Given the description of an element on the screen output the (x, y) to click on. 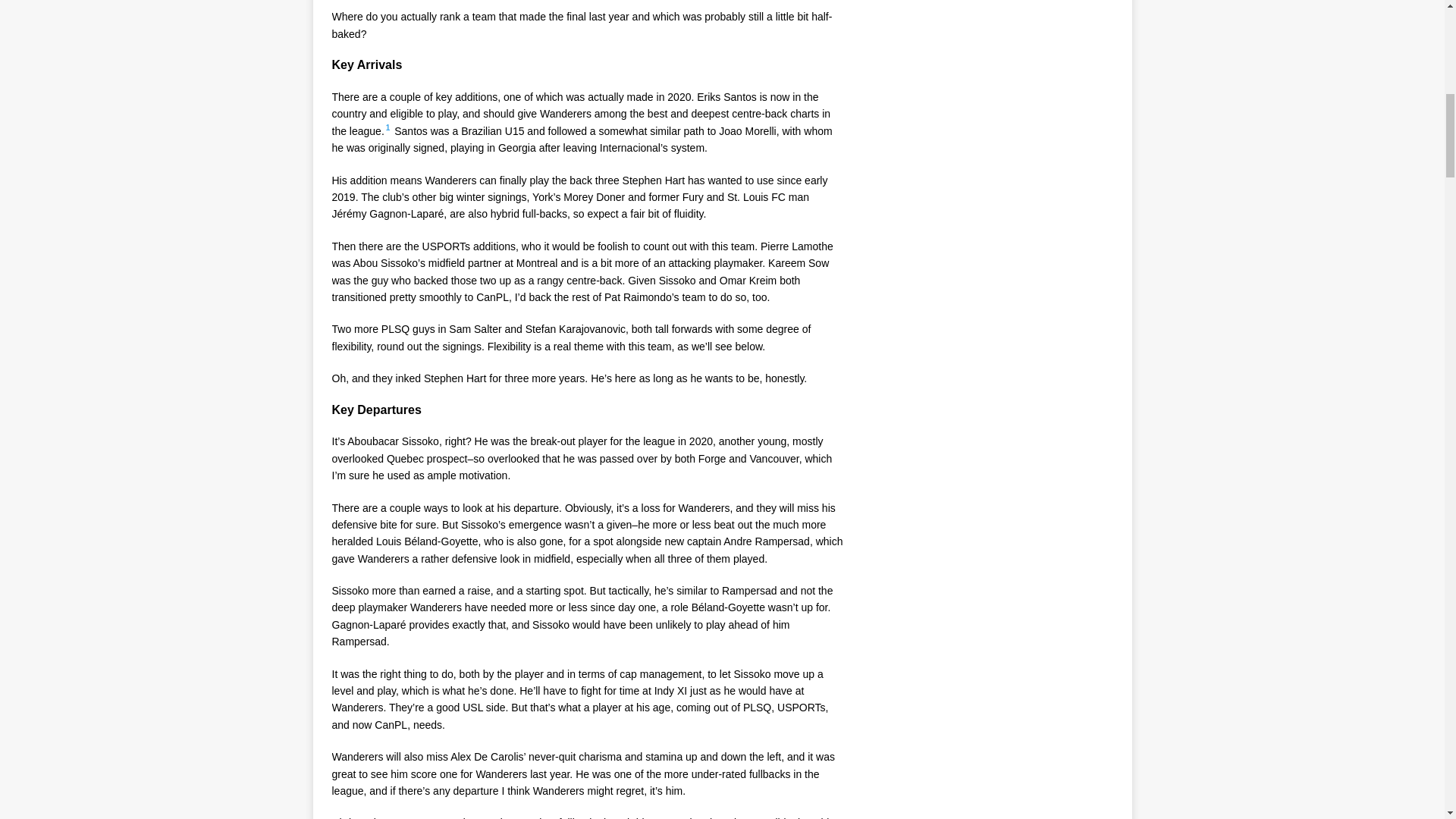
1 (387, 127)
